Given the description of an element on the screen output the (x, y) to click on. 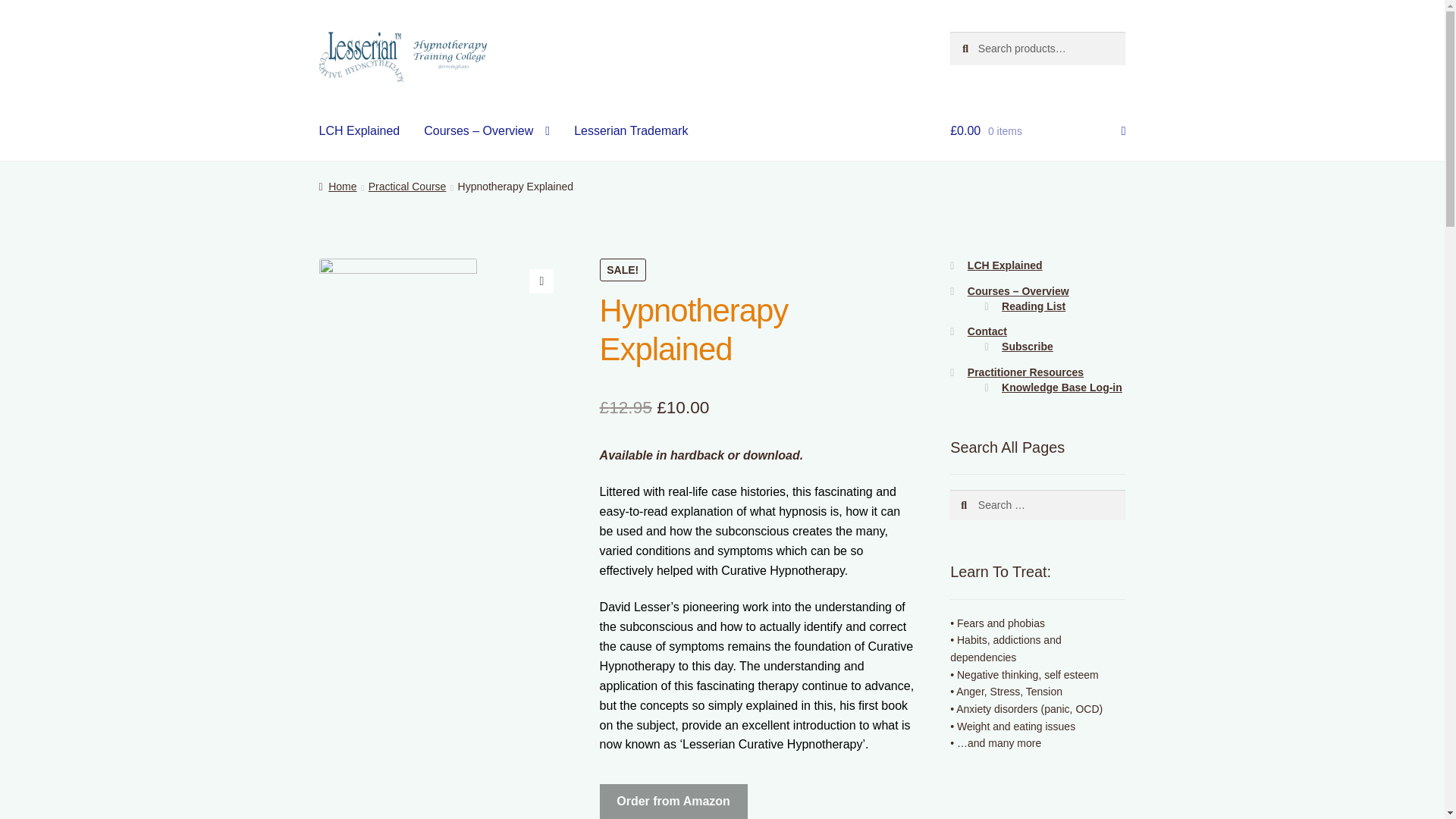
test308x300 (397, 372)
Practical Course (407, 186)
Home (337, 186)
Order from Amazon (673, 801)
View your shopping basket (1037, 130)
Lesserian Trademark (631, 130)
LCH Explained (359, 130)
